Given the description of an element on the screen output the (x, y) to click on. 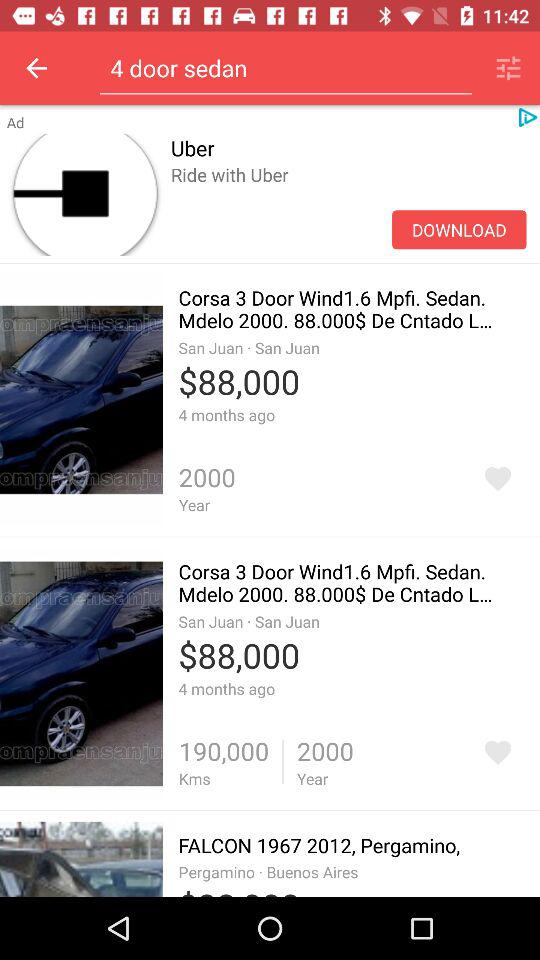
go to add favorite (497, 478)
